Given the description of an element on the screen output the (x, y) to click on. 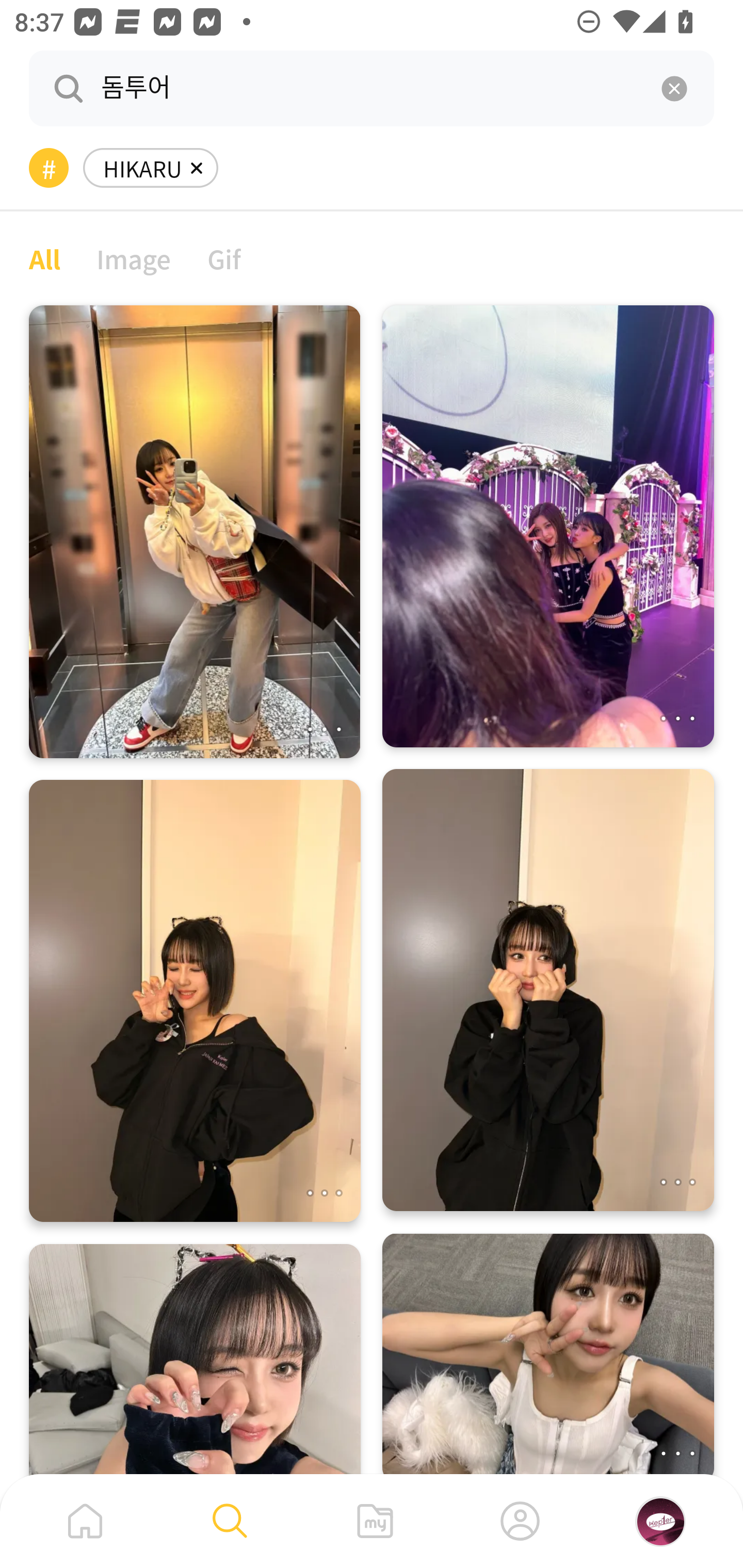
All (44, 257)
Image (133, 257)
Gif (223, 257)
